Given the description of an element on the screen output the (x, y) to click on. 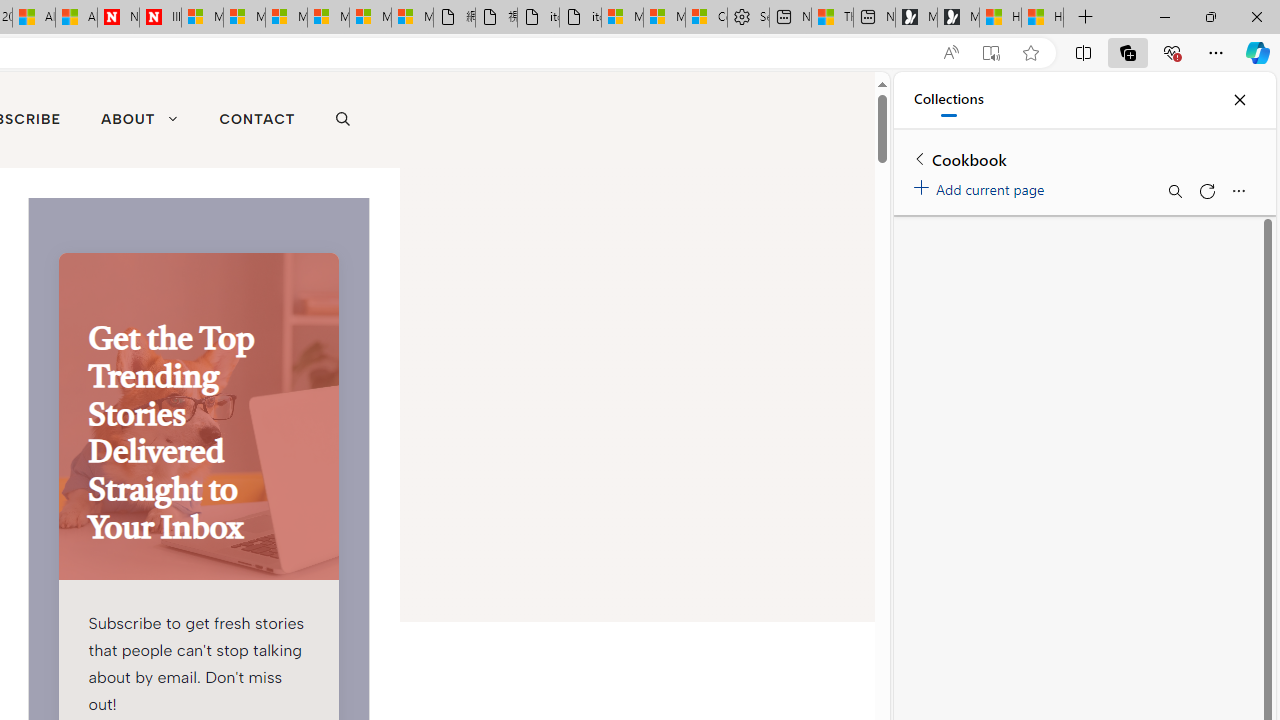
Consumer Health Data Privacy Policy (706, 17)
Open search (341, 119)
CONTACT (257, 119)
How to Use a TV as a Computer Monitor (1042, 17)
